Given the description of an element on the screen output the (x, y) to click on. 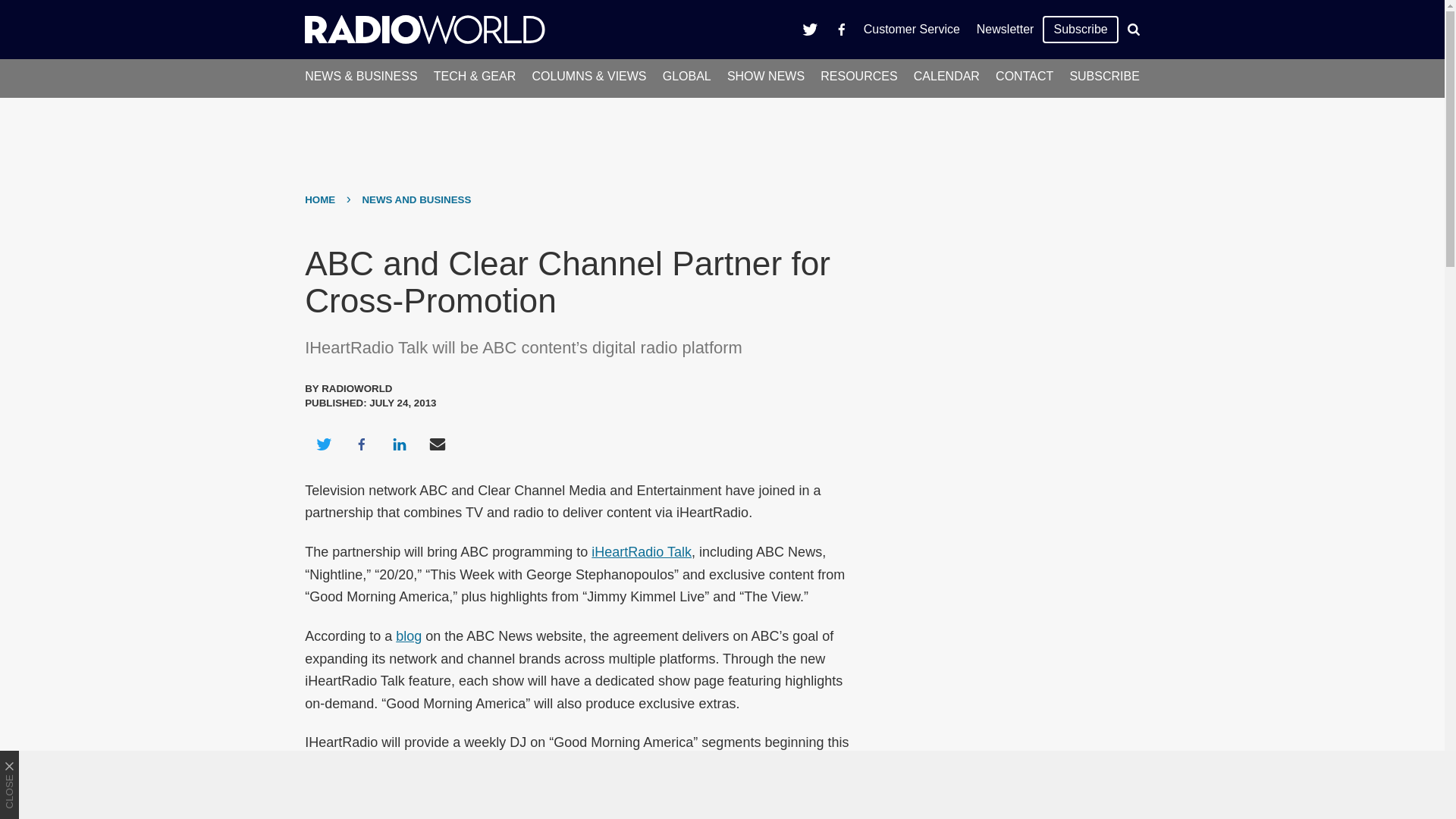
Share on LinkedIn (399, 444)
Share on Facebook (361, 444)
Customer Service (912, 29)
Share on Twitter (323, 444)
Share via Email (438, 444)
